Given the description of an element on the screen output the (x, y) to click on. 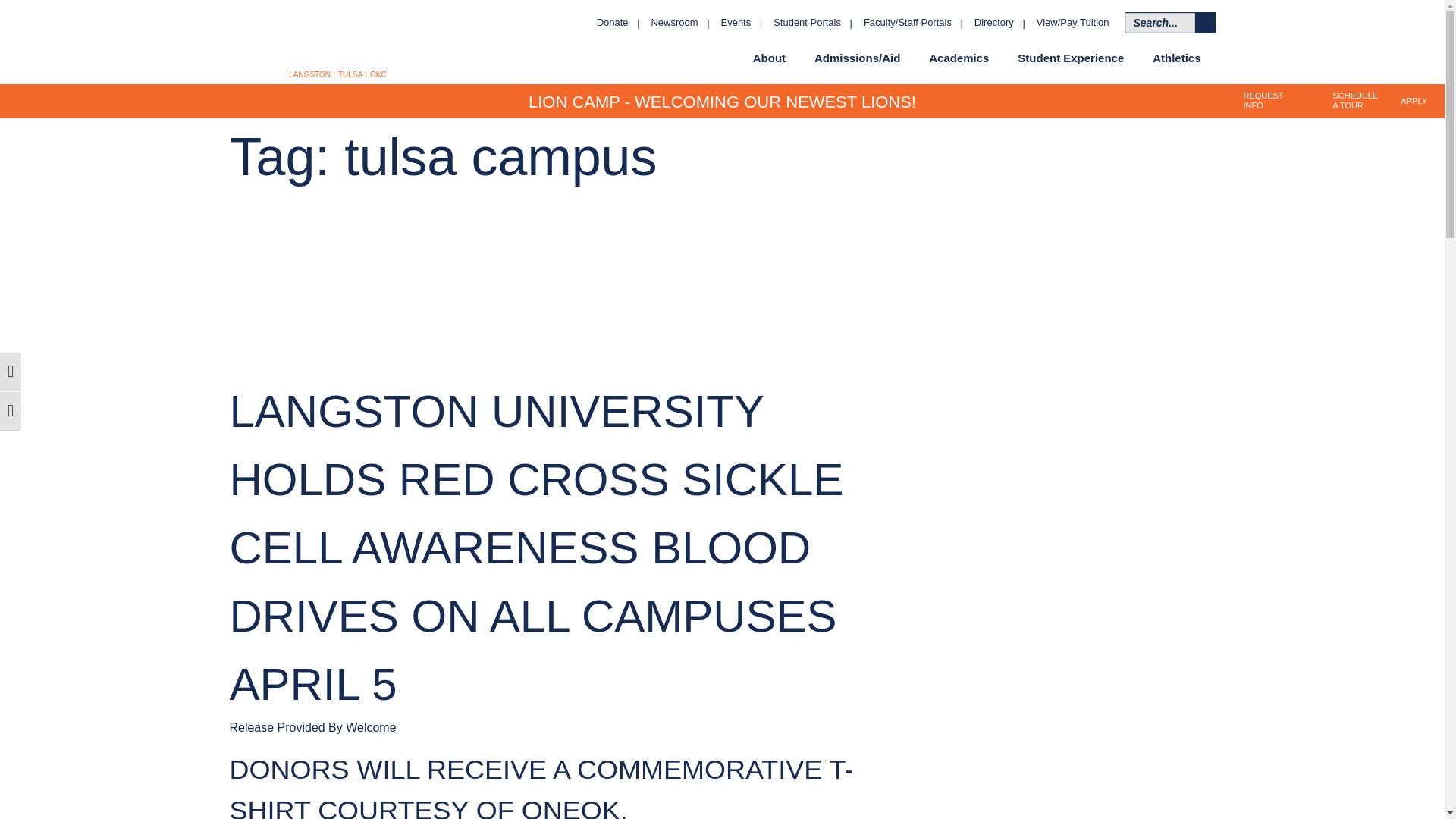
Student Portals (806, 23)
TULSA (350, 74)
Academics (958, 58)
About (768, 58)
Newsroom (675, 23)
Directory (993, 23)
LANGSTON (309, 74)
Events (736, 23)
OKC (378, 74)
Donate (612, 23)
